Given the description of an element on the screen output the (x, y) to click on. 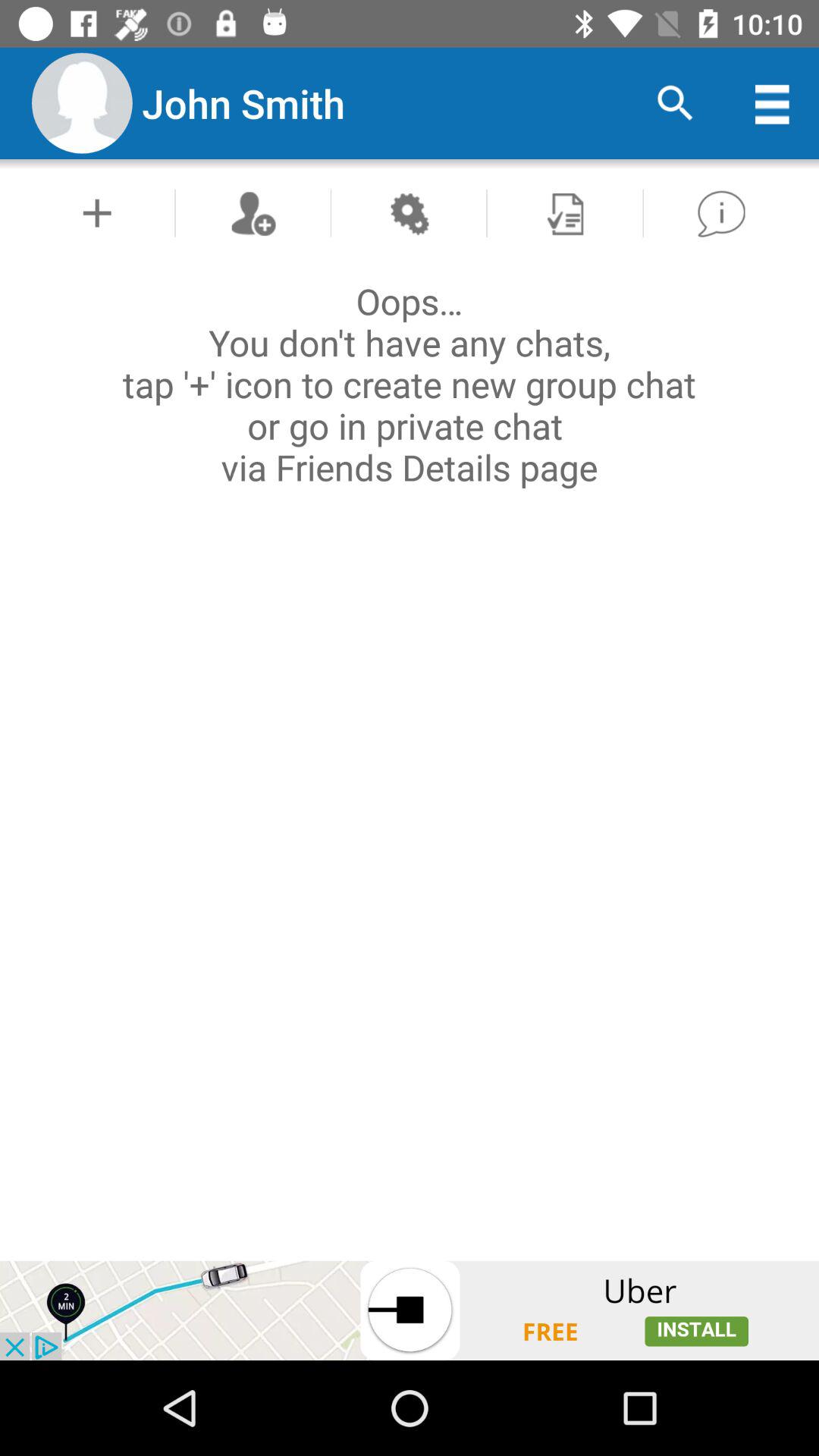
select advertisement (409, 1310)
